Given the description of an element on the screen output the (x, y) to click on. 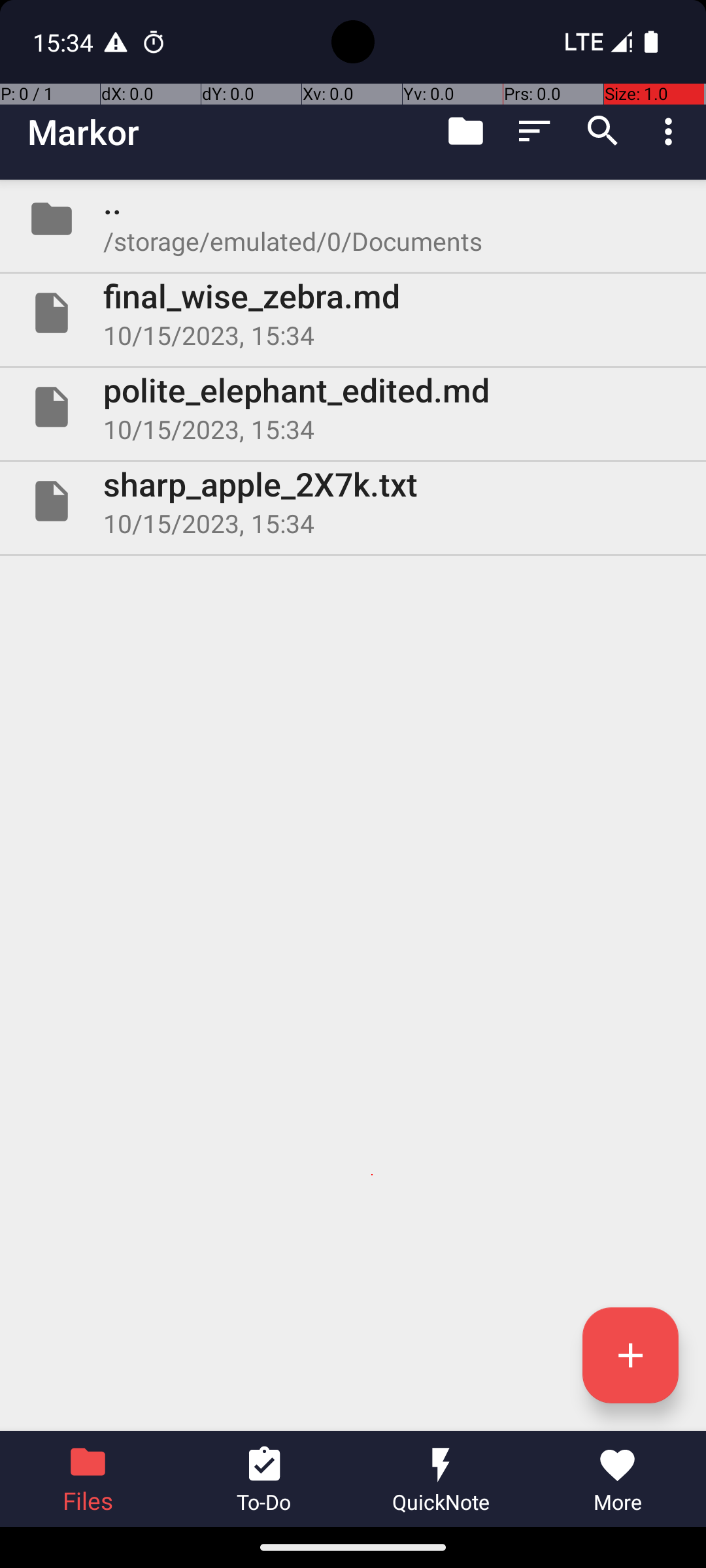
File final_wise_zebra.md  Element type: android.widget.LinearLayout (353, 312)
File polite_elephant_edited.md  Element type: android.widget.LinearLayout (353, 406)
File sharp_apple_2X7k.txt  Element type: android.widget.LinearLayout (353, 500)
